Given the description of an element on the screen output the (x, y) to click on. 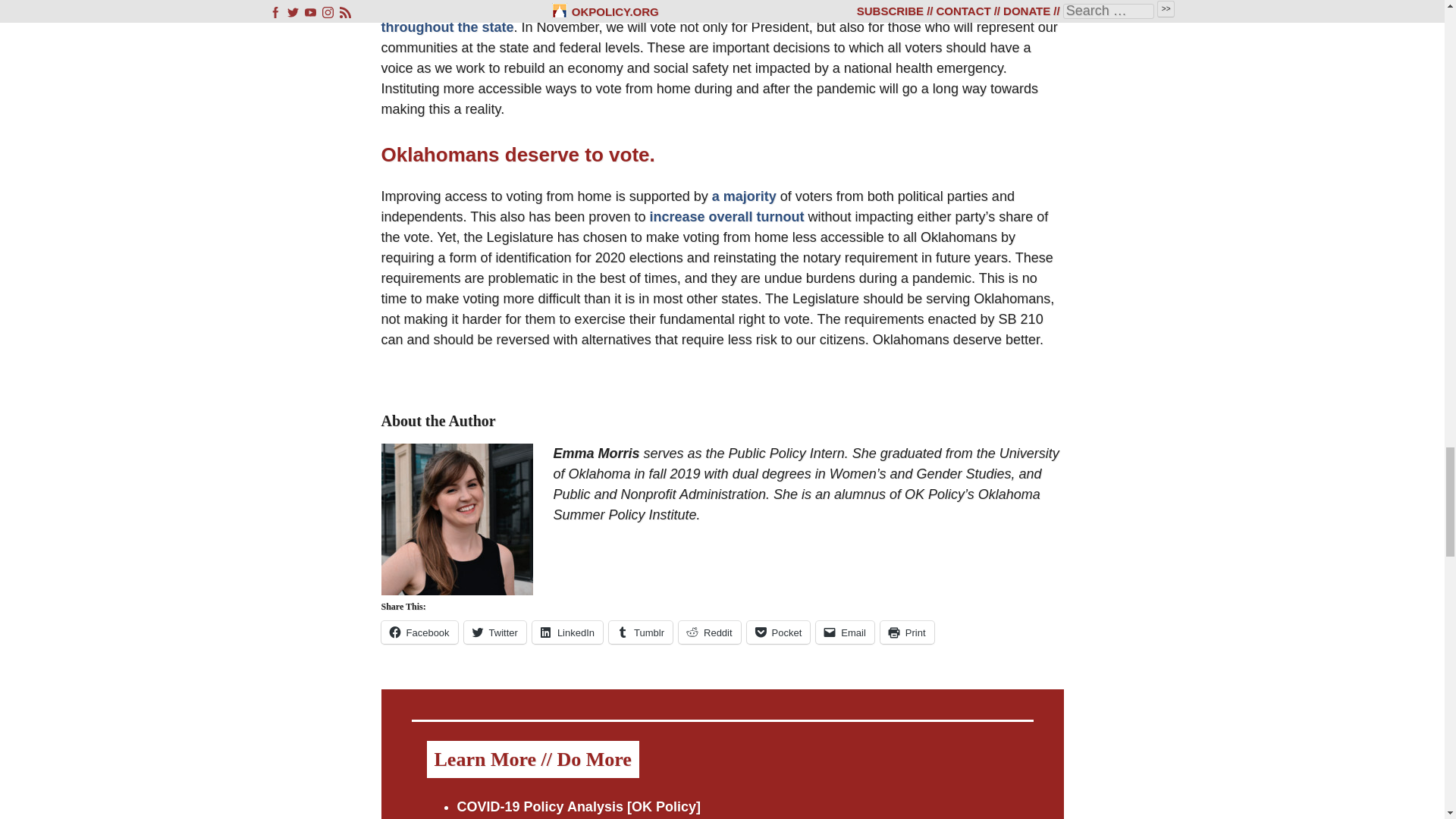
Click to share on Pocket (778, 631)
Click to share on Facebook (418, 631)
Click to share on Reddit (709, 631)
Click to share on Twitter (494, 631)
Click to email a link to a friend (845, 631)
Click to share on LinkedIn (567, 631)
Click to share on Tumblr (640, 631)
Click to print (907, 631)
